Given the description of an element on the screen output the (x, y) to click on. 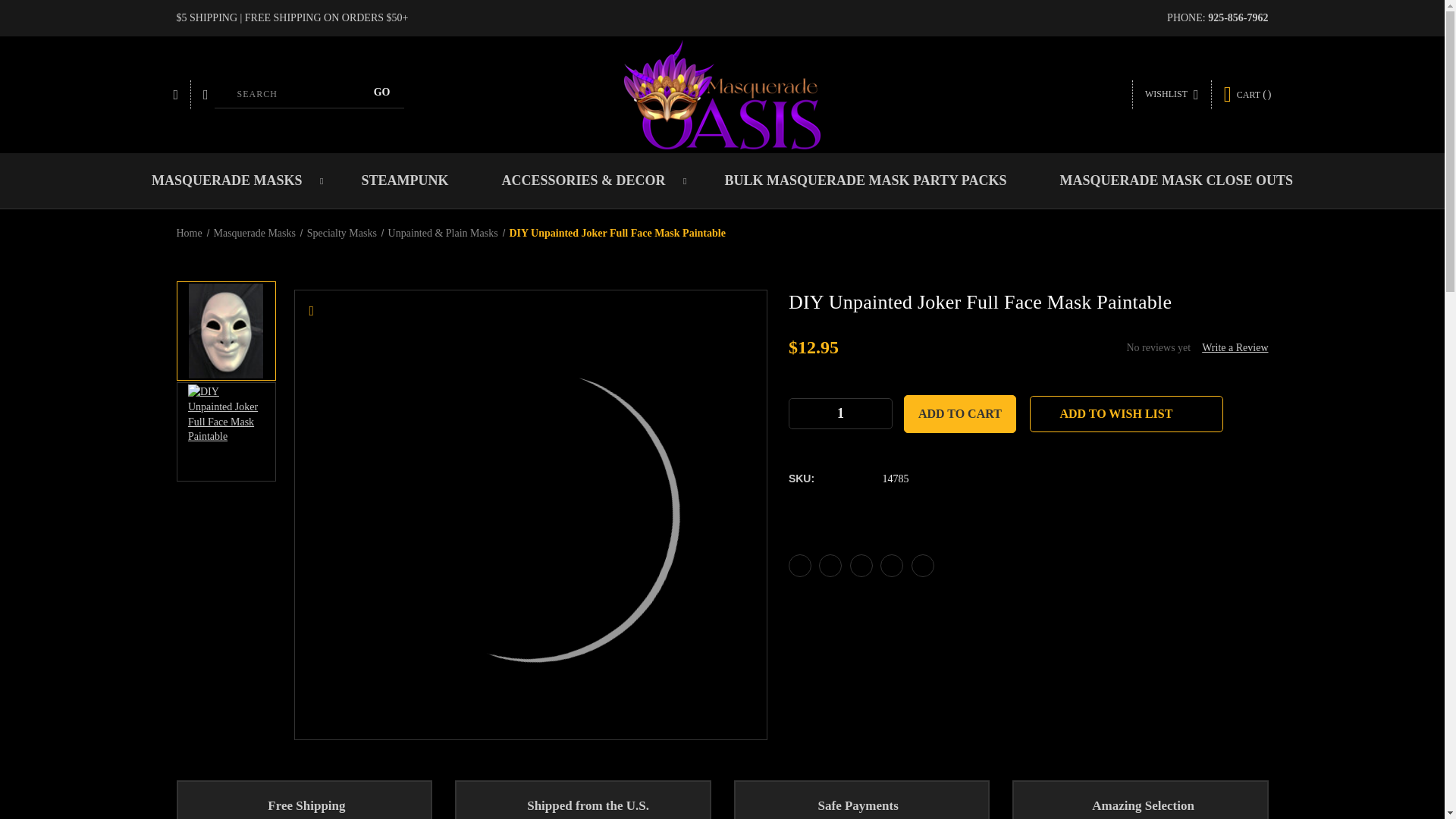
Go (382, 92)
Go (382, 92)
Masquerade Oasis (722, 94)
Pinterest (922, 565)
MASQUERADE MASKS (229, 180)
STEAMPUNK (404, 180)
1 (840, 413)
925-856-7962 (1238, 17)
BULK MASQUERADE MASK PARTY PACKS (864, 180)
Print (861, 565)
